Given the description of an element on the screen output the (x, y) to click on. 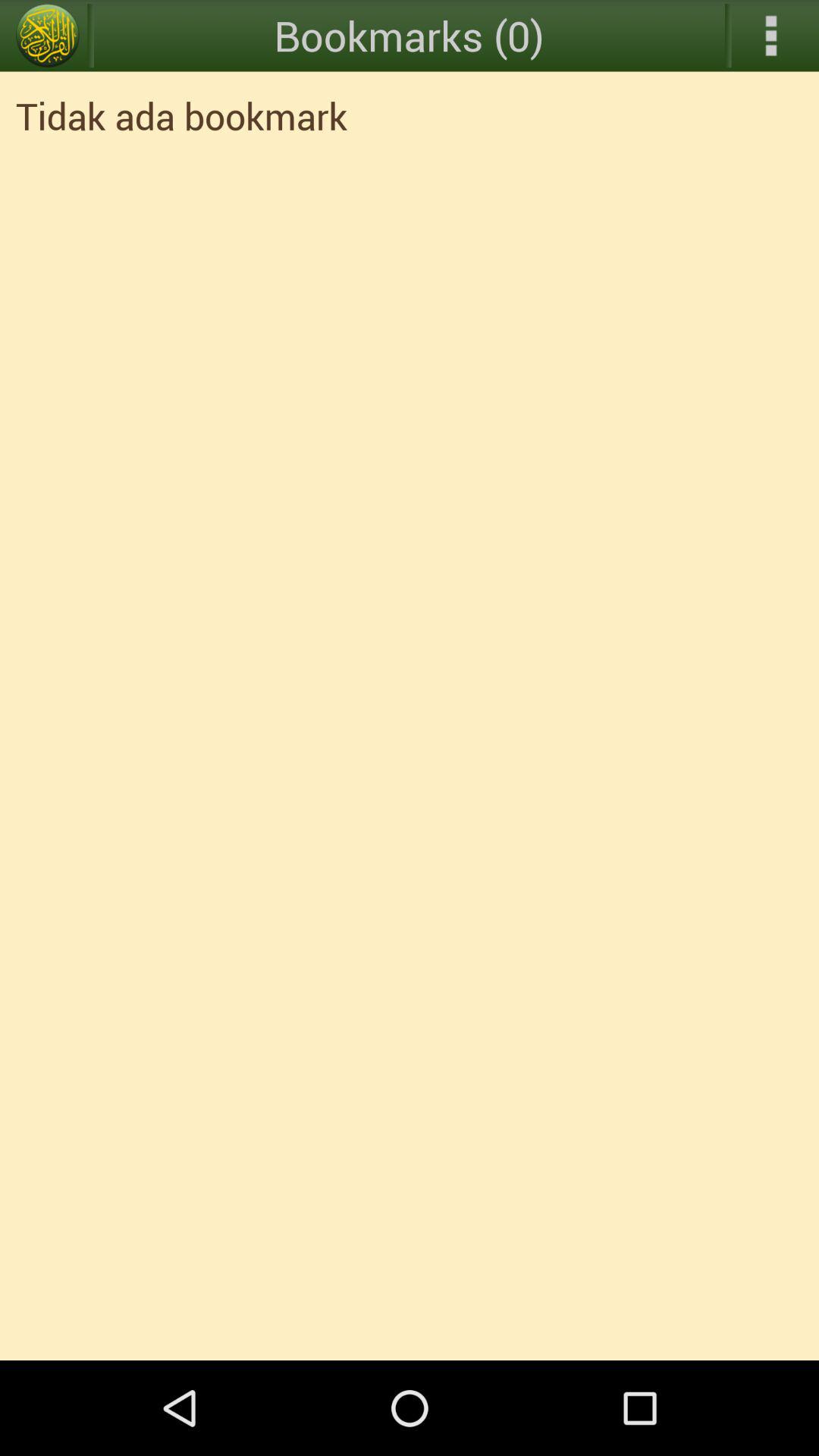
launch item above tidak ada bookmark icon (47, 35)
